Given the description of an element on the screen output the (x, y) to click on. 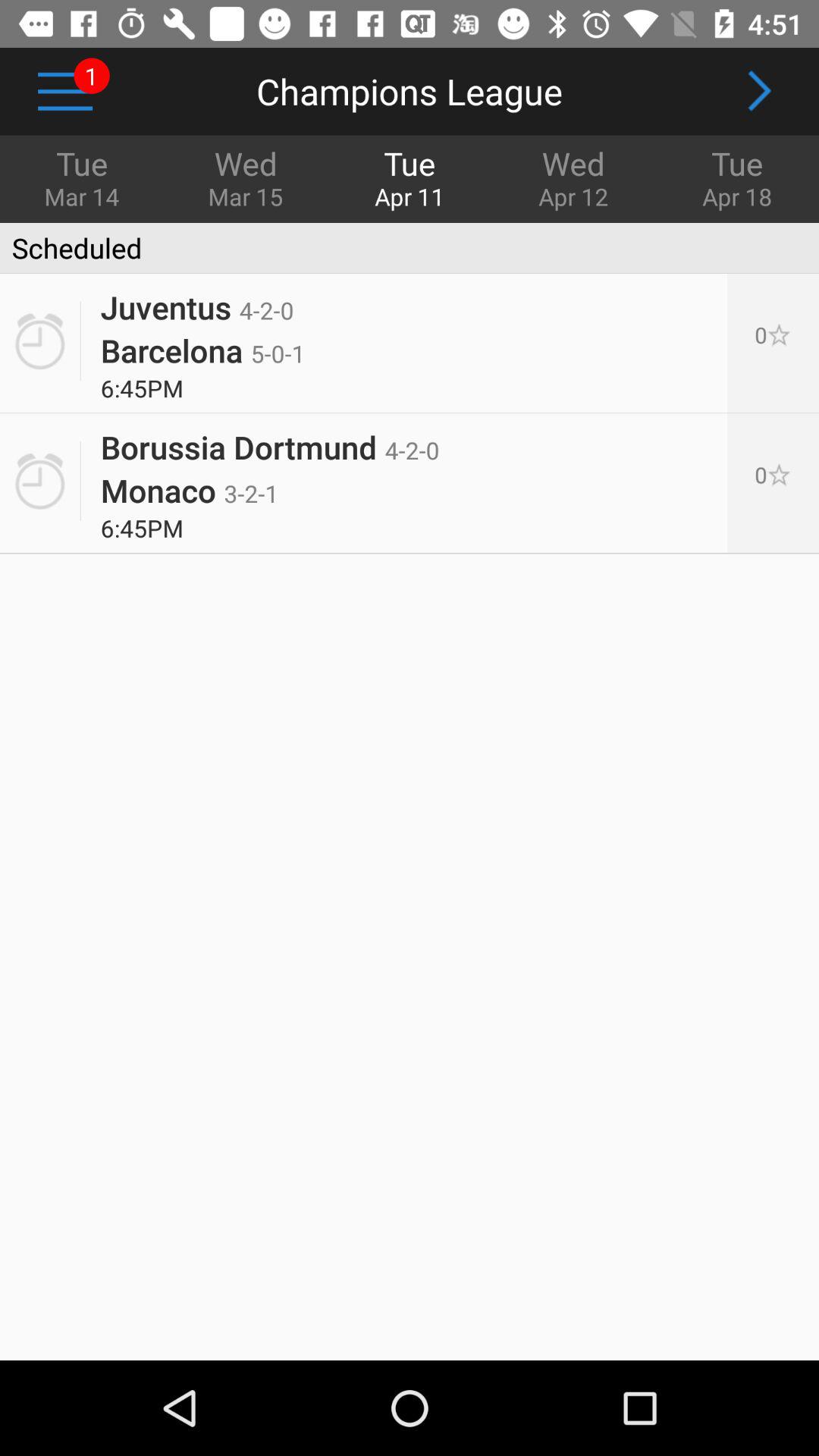
click item to the left of 0[p] item (269, 440)
